Given the description of an element on the screen output the (x, y) to click on. 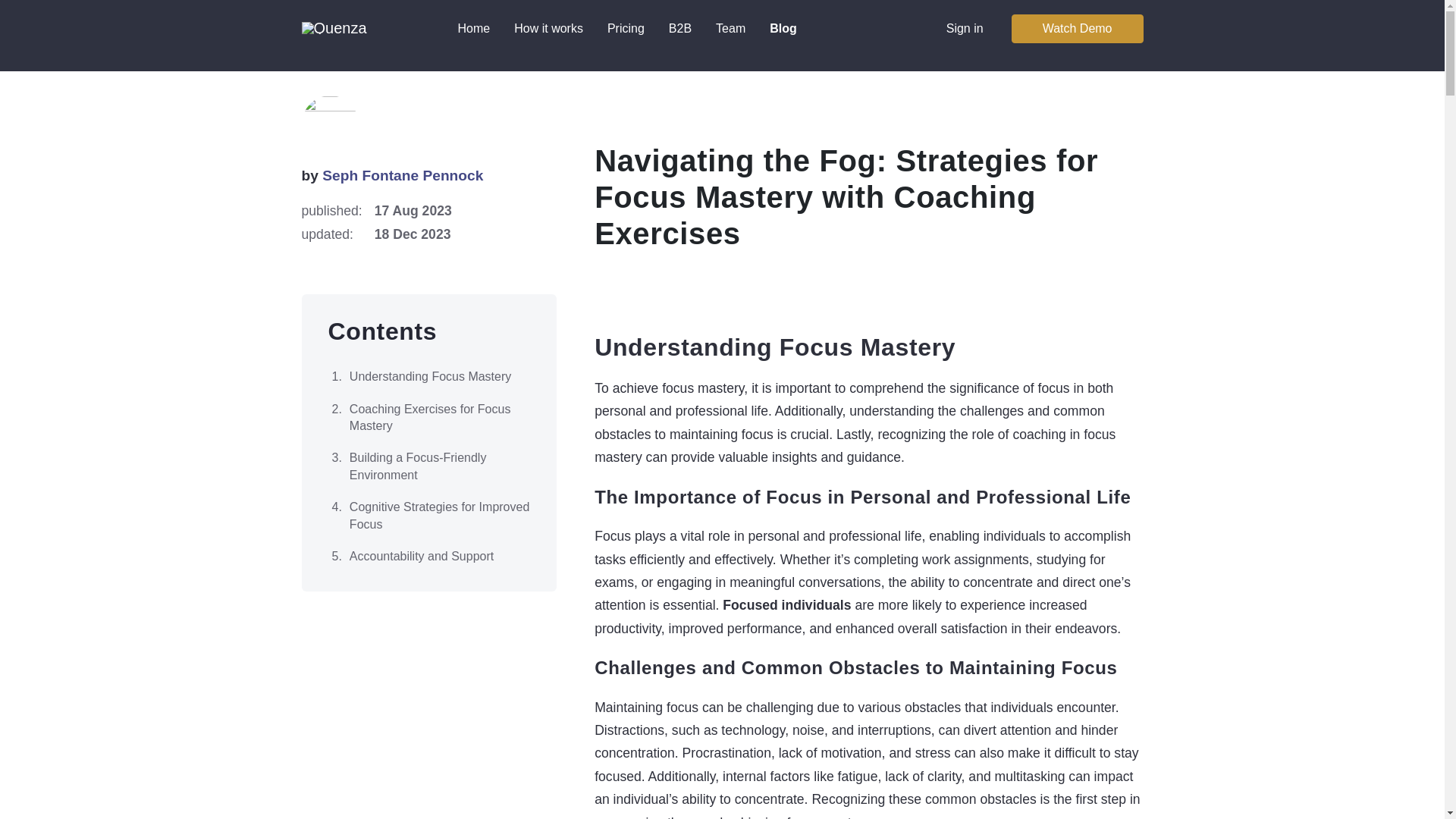
Cognitive Strategies for Improved Focus (428, 515)
Accountability and Support (428, 556)
Building a Focus-Friendly Environment (428, 466)
Pricing (625, 28)
Coaching Exercises for Focus Mastery (428, 418)
B2B (679, 28)
Home (473, 28)
How it works (548, 28)
Team (730, 28)
Watch Demo (1076, 28)
